Given the description of an element on the screen output the (x, y) to click on. 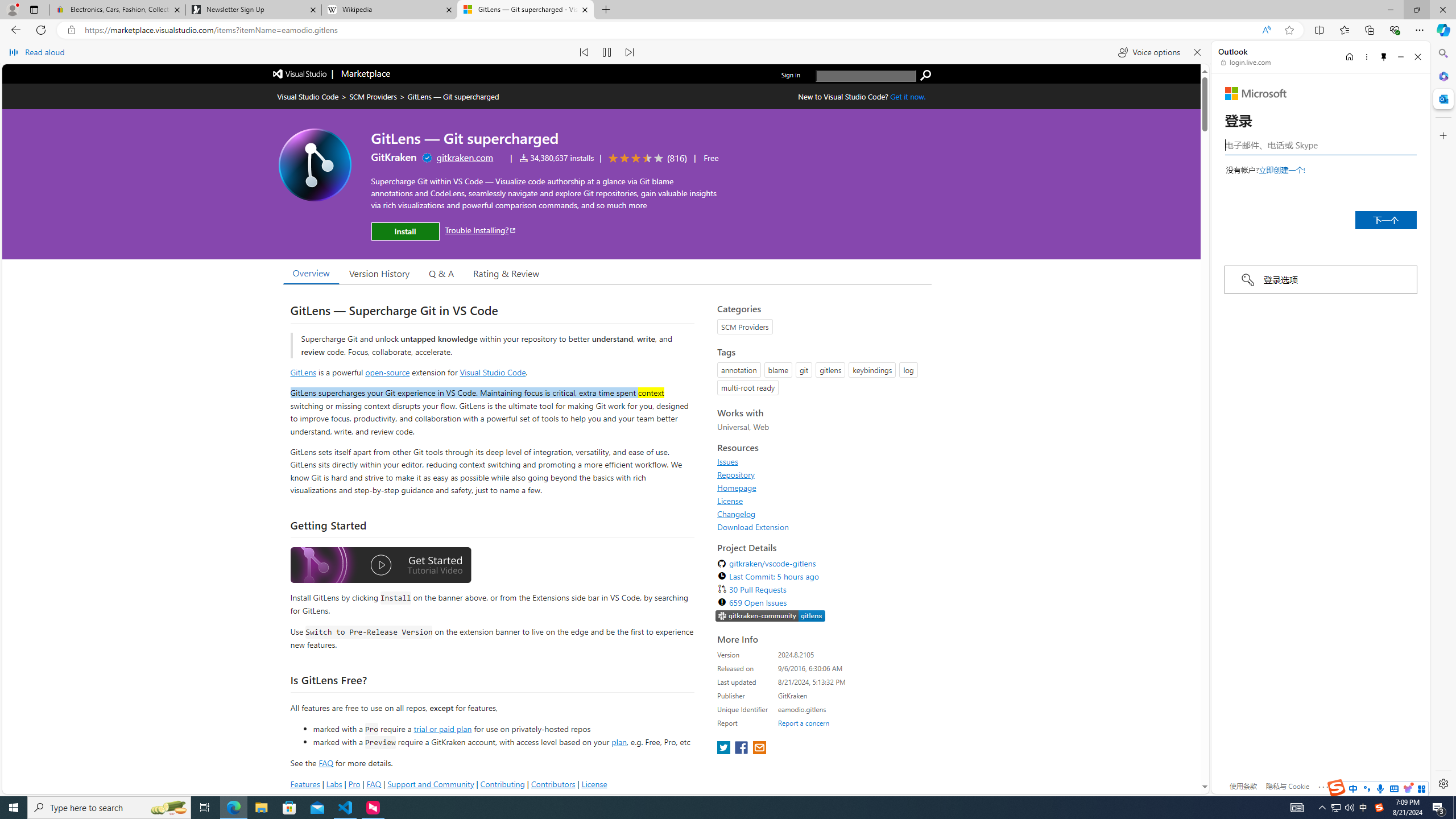
Rating & Review (505, 272)
Version History (379, 272)
License (820, 500)
Watch the GitLens Getting Started video (380, 566)
FAQ (373, 783)
More from GitKraken publisher (393, 156)
open-source (387, 371)
Install (405, 231)
Changelog (820, 513)
